Given the description of an element on the screen output the (x, y) to click on. 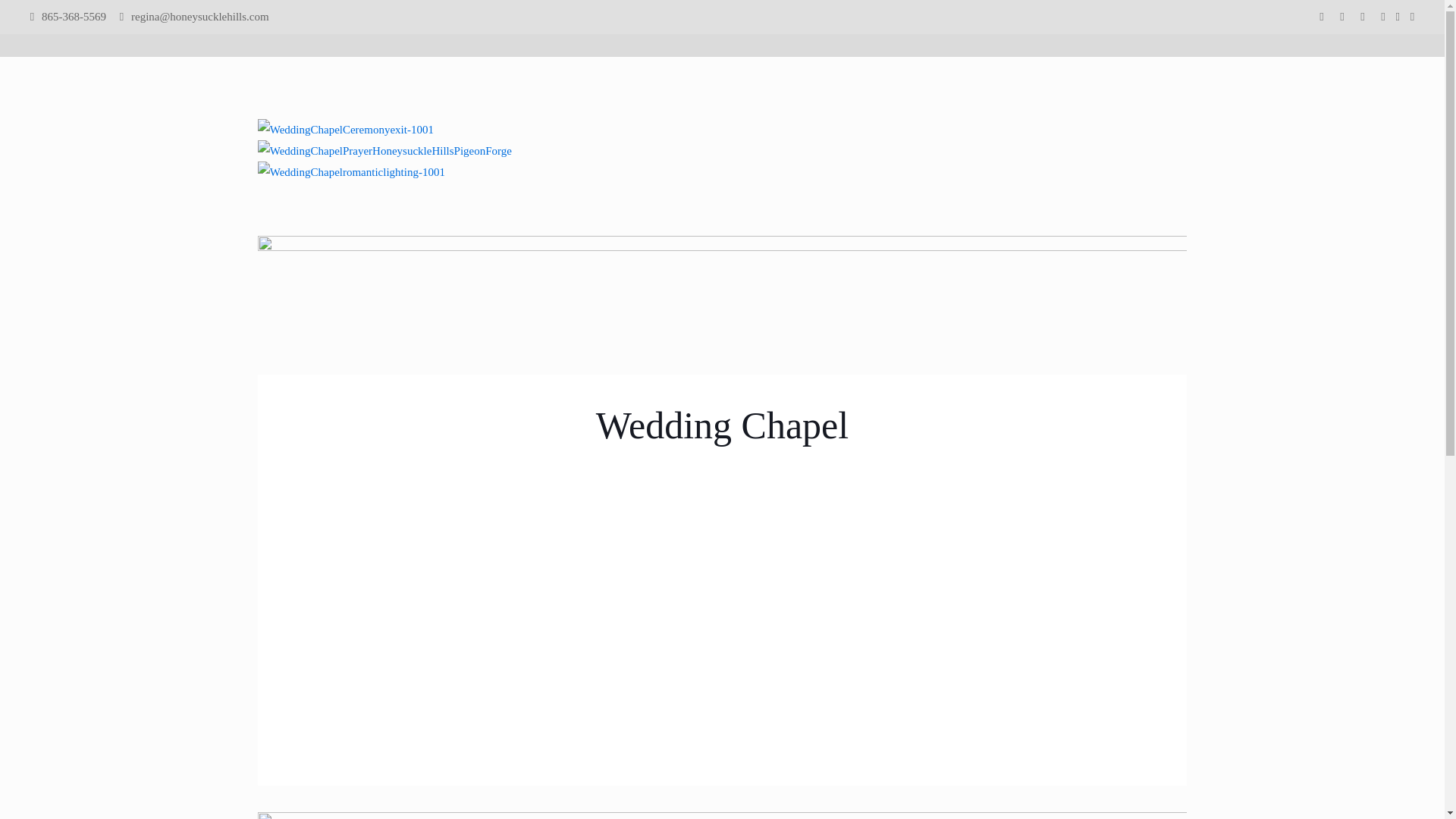
Pinterest (1363, 16)
865-368-5569 (74, 16)
Facebook (1322, 16)
YouTube (1343, 16)
WeddingChapelCeremonyexit-1001 (345, 129)
Instagram (1383, 16)
WeddingChapelPrayerHoneysuckleHillsPigeonForge (384, 150)
WeddingChapelromanticlighting-1001 (351, 171)
